Given the description of an element on the screen output the (x, y) to click on. 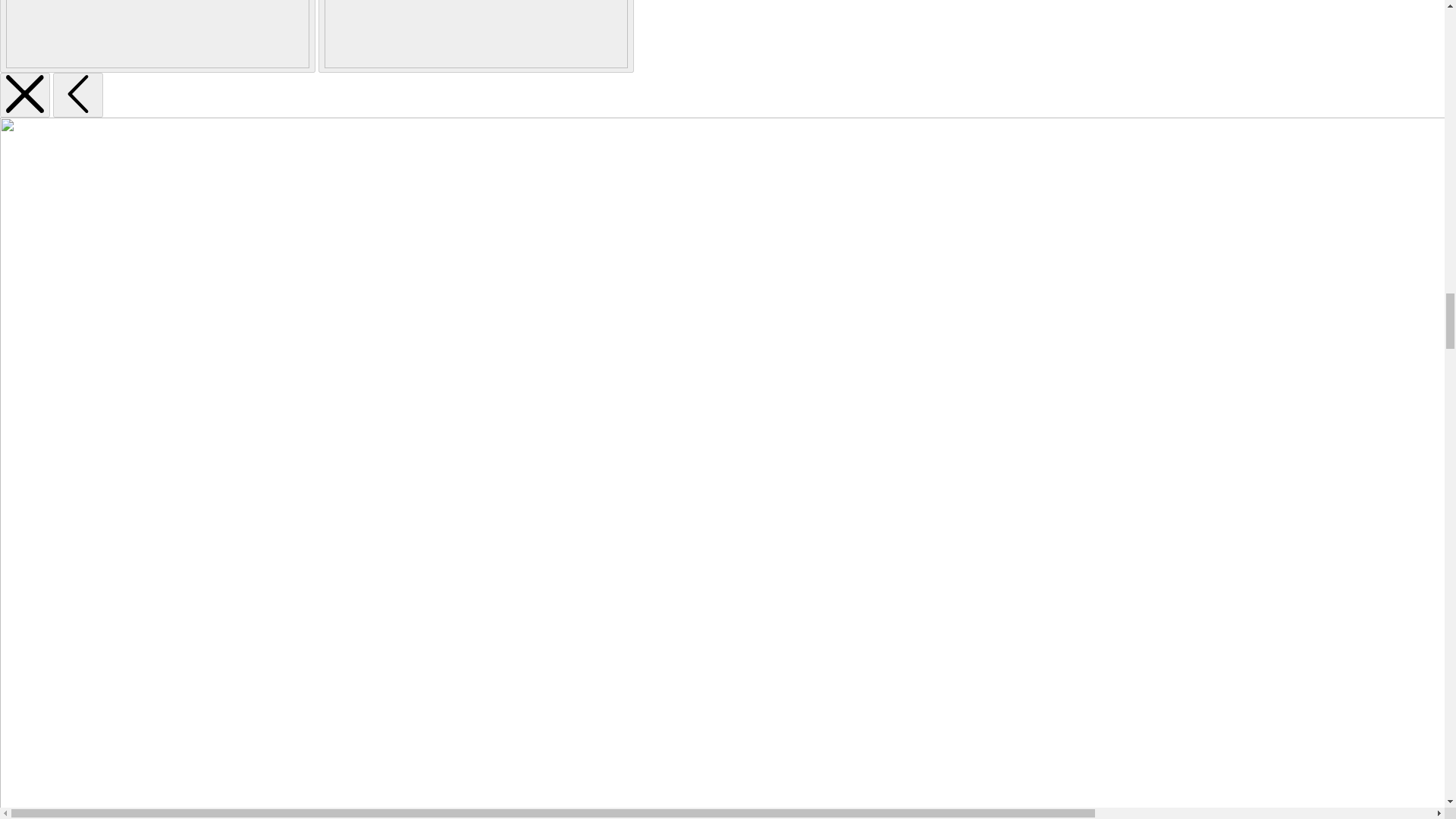
Chevron left icon (77, 94)
Chevron left icon (78, 94)
X icon (24, 94)
X icon (24, 94)
